Given the description of an element on the screen output the (x, y) to click on. 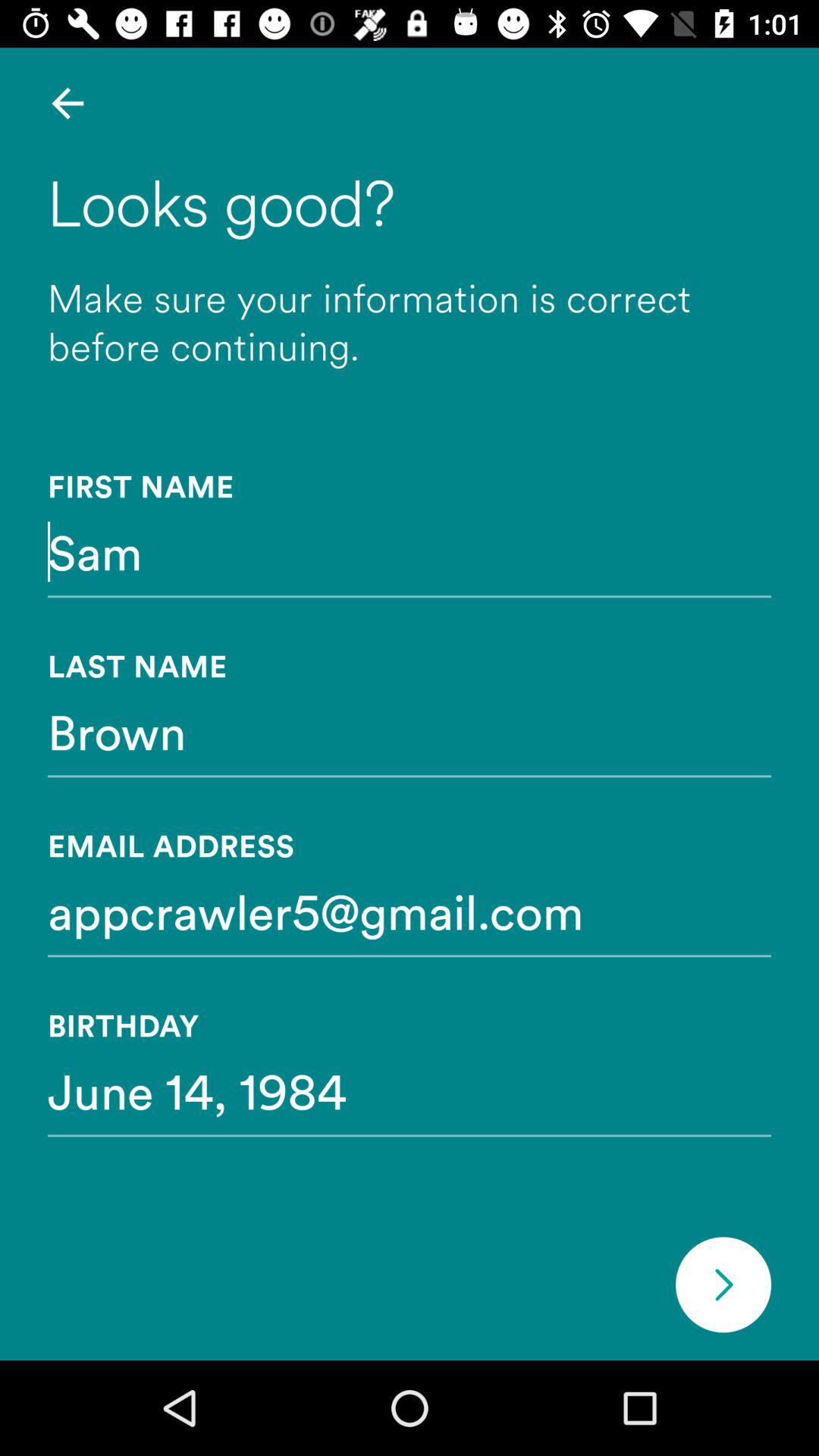
next page (723, 1284)
